Given the description of an element on the screen output the (x, y) to click on. 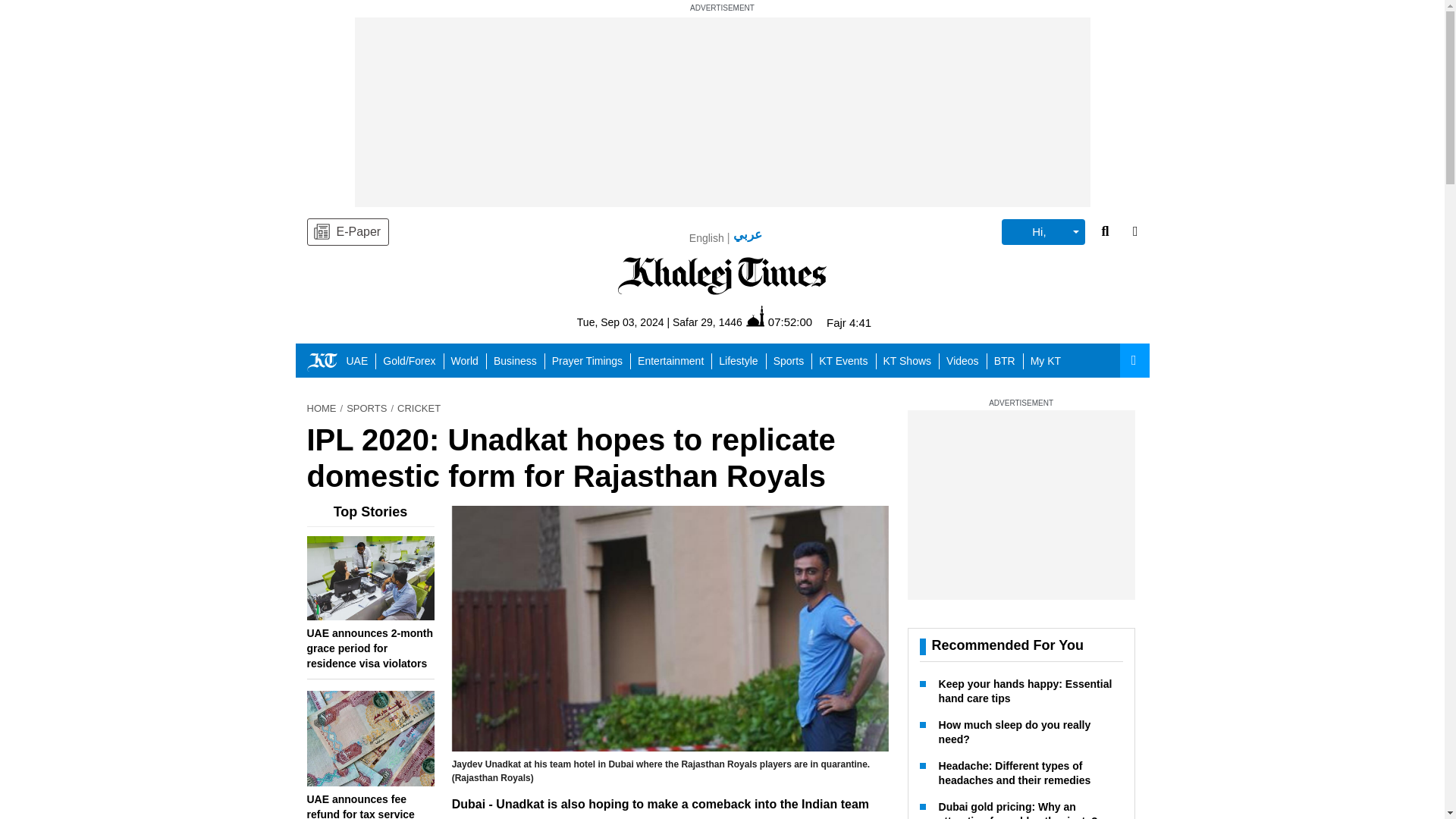
07:52:00 (778, 321)
E-Paper (346, 231)
Fajr 4:41 (848, 322)
Hi, (1042, 232)
